Given the description of an element on the screen output the (x, y) to click on. 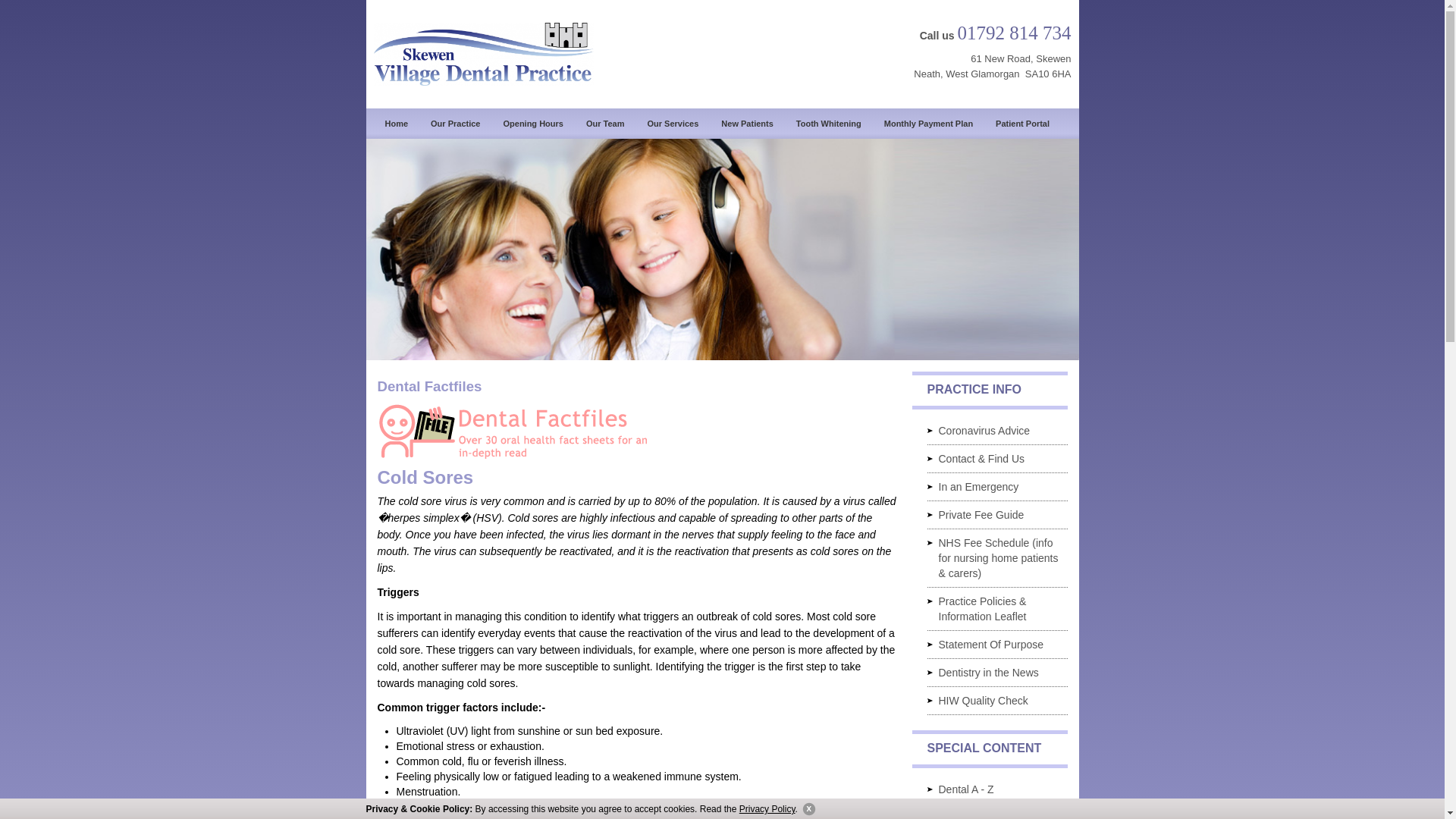
Private Fee Guide (996, 514)
Monthly Payment Plan (928, 123)
Patient Portal (1022, 123)
New Patients (747, 123)
Statement Of Purpose (996, 644)
Tooth Whitening (828, 123)
Privacy Policy (766, 808)
In an Emergency (996, 486)
Dentistry in the News (996, 672)
Home (395, 123)
Opening Hours (532, 123)
Our Services (672, 123)
Our Practice (455, 123)
Coronavirus Advice (996, 430)
Our Team (605, 123)
